Given the description of an element on the screen output the (x, y) to click on. 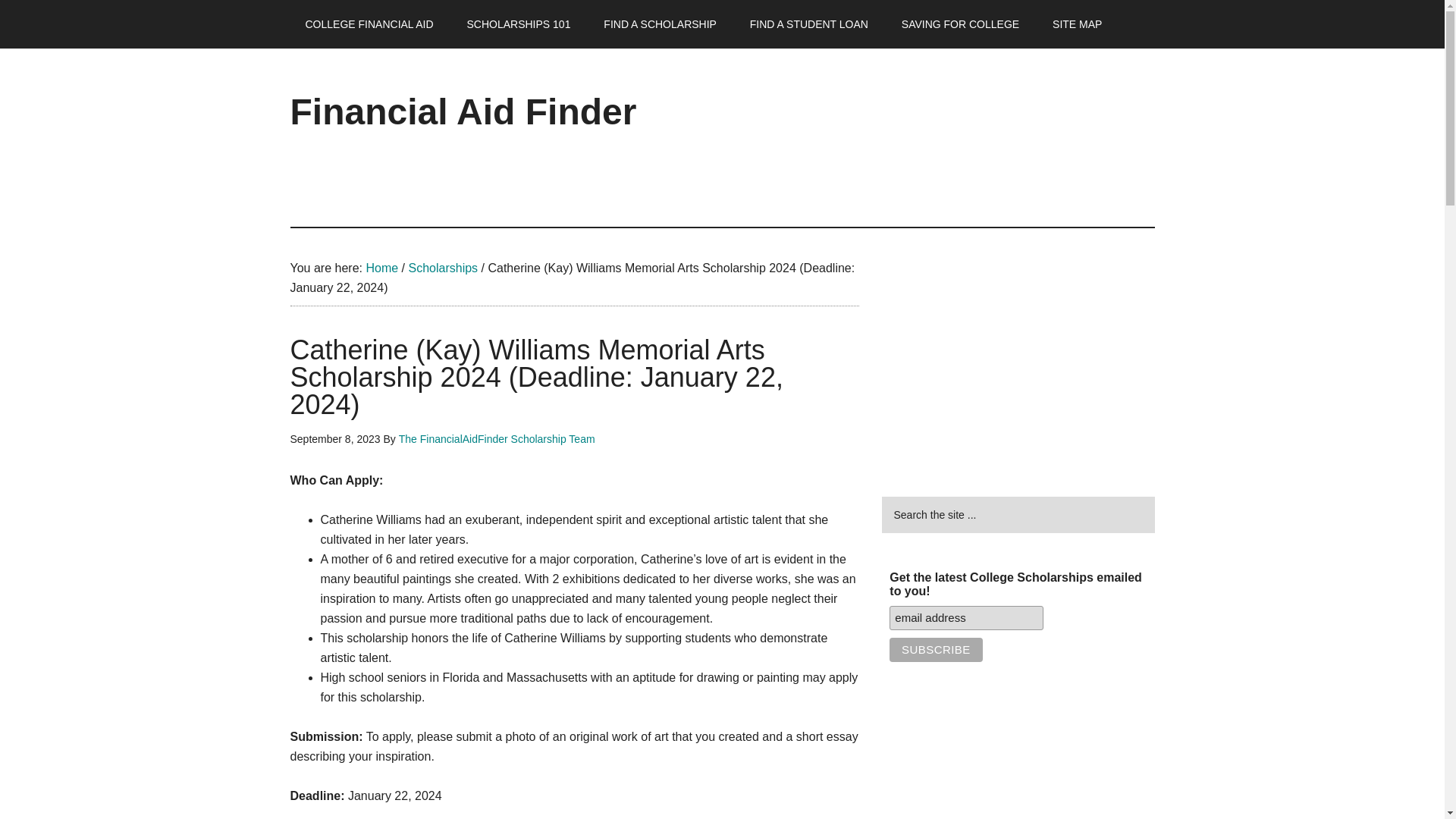
FIND A SCHOLARSHIP (660, 24)
COLLEGE FINANCIAL AID (368, 24)
FIND A STUDENT LOAN (809, 24)
Subscribe (935, 649)
SCHOLARSHIPS 101 (518, 24)
